Given the description of an element on the screen output the (x, y) to click on. 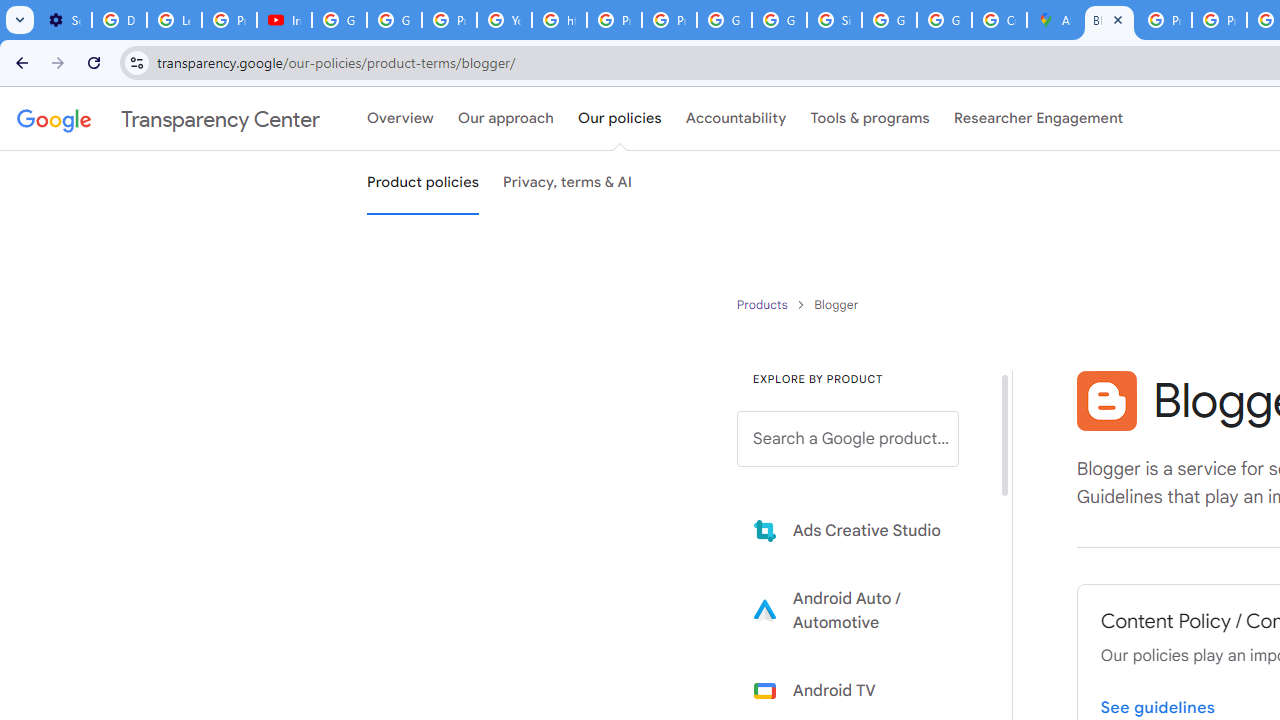
Accountability (735, 119)
Learn more about Android Auto (862, 610)
Settings - Performance (64, 20)
Learn more about Ads Creative Studio (862, 530)
Our approach (506, 119)
Our policies (619, 119)
Google Account Help (339, 20)
